Given the description of an element on the screen output the (x, y) to click on. 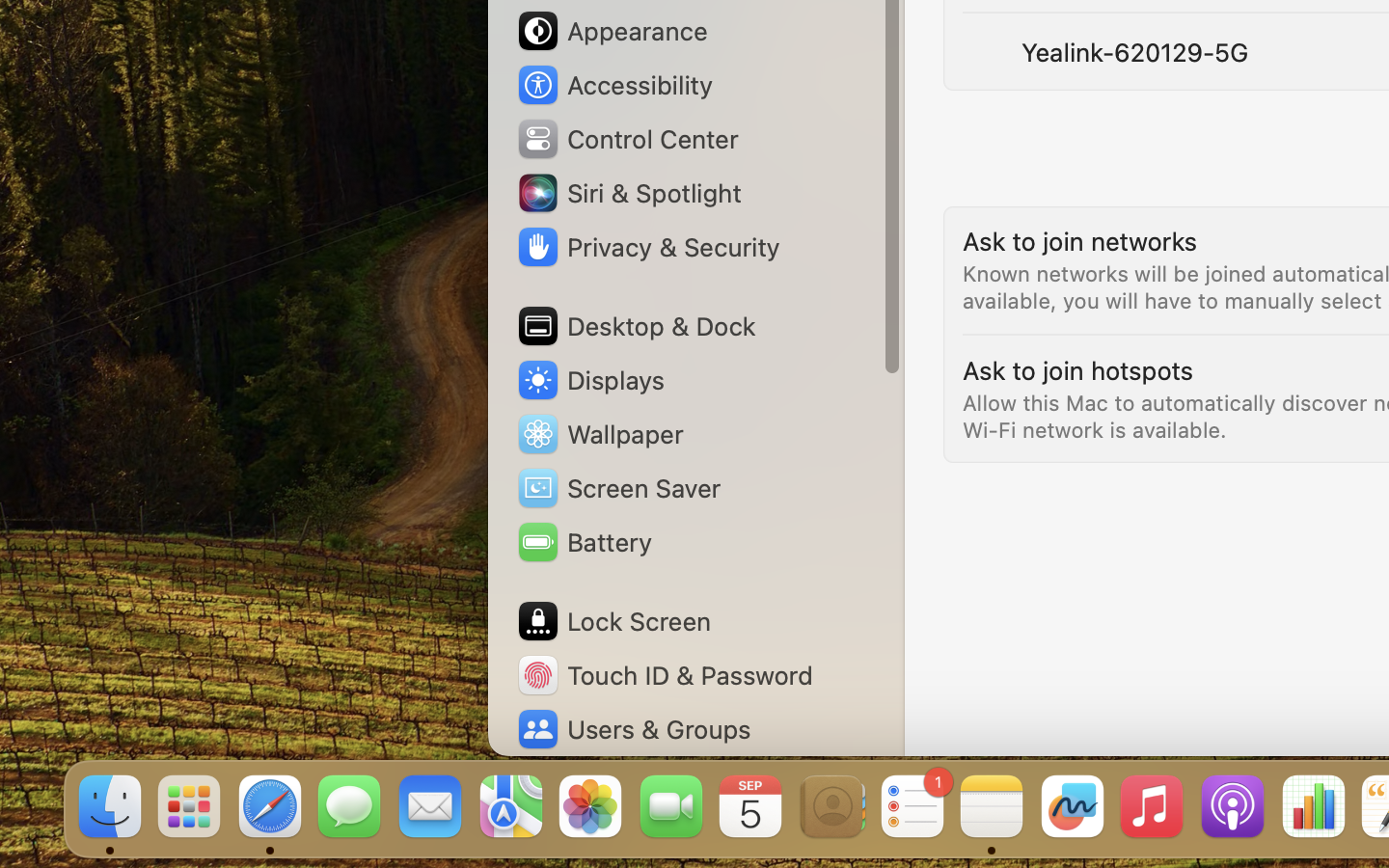
Yealink-620129-5G Element type: AXStaticText (1134, 51)
